Given the description of an element on the screen output the (x, y) to click on. 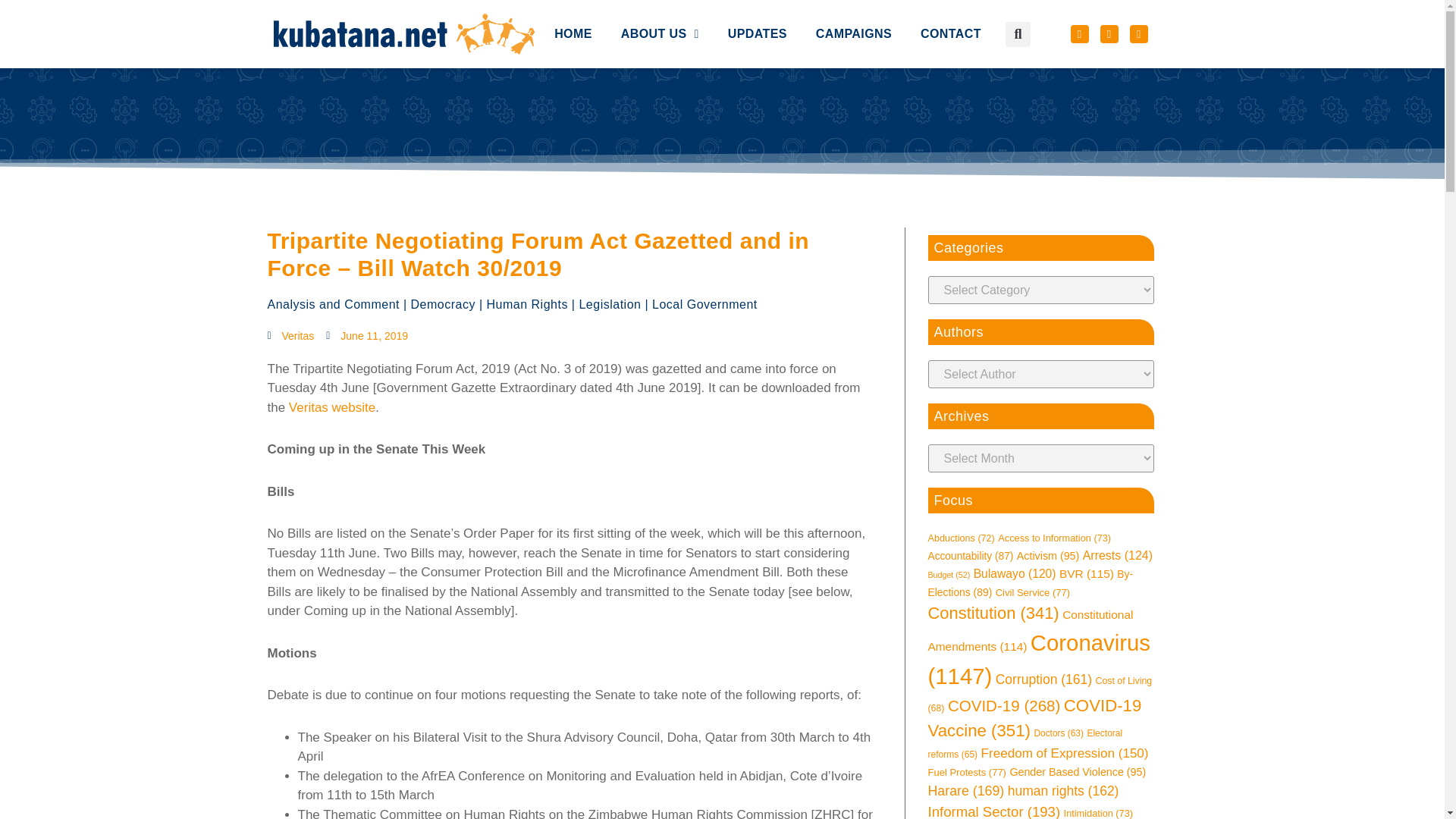
UPDATES (756, 8)
Analysis and Comment (332, 304)
Democracy (443, 304)
Human Rights (526, 304)
CONTACT (950, 11)
HOME (573, 0)
ABOUT US (660, 2)
CAMPAIGNS (853, 9)
